Given the description of an element on the screen output the (x, y) to click on. 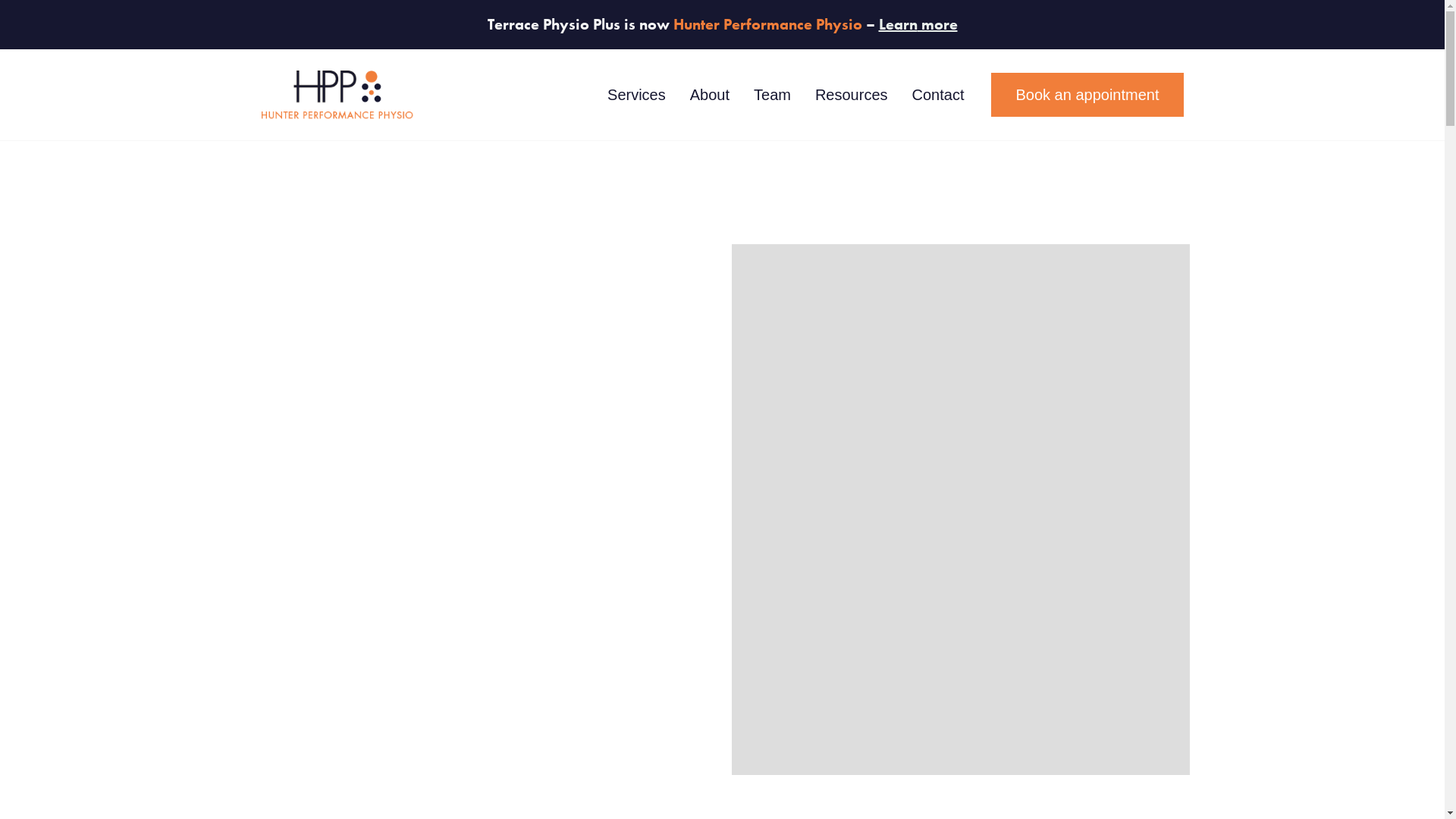
Services Element type: text (636, 94)
Book an appointment Element type: text (1087, 94)
Team Element type: text (772, 94)
Contact Element type: text (938, 94)
Learn more Element type: text (917, 24)
Resources Element type: text (851, 94)
About Element type: text (709, 94)
